Given the description of an element on the screen output the (x, y) to click on. 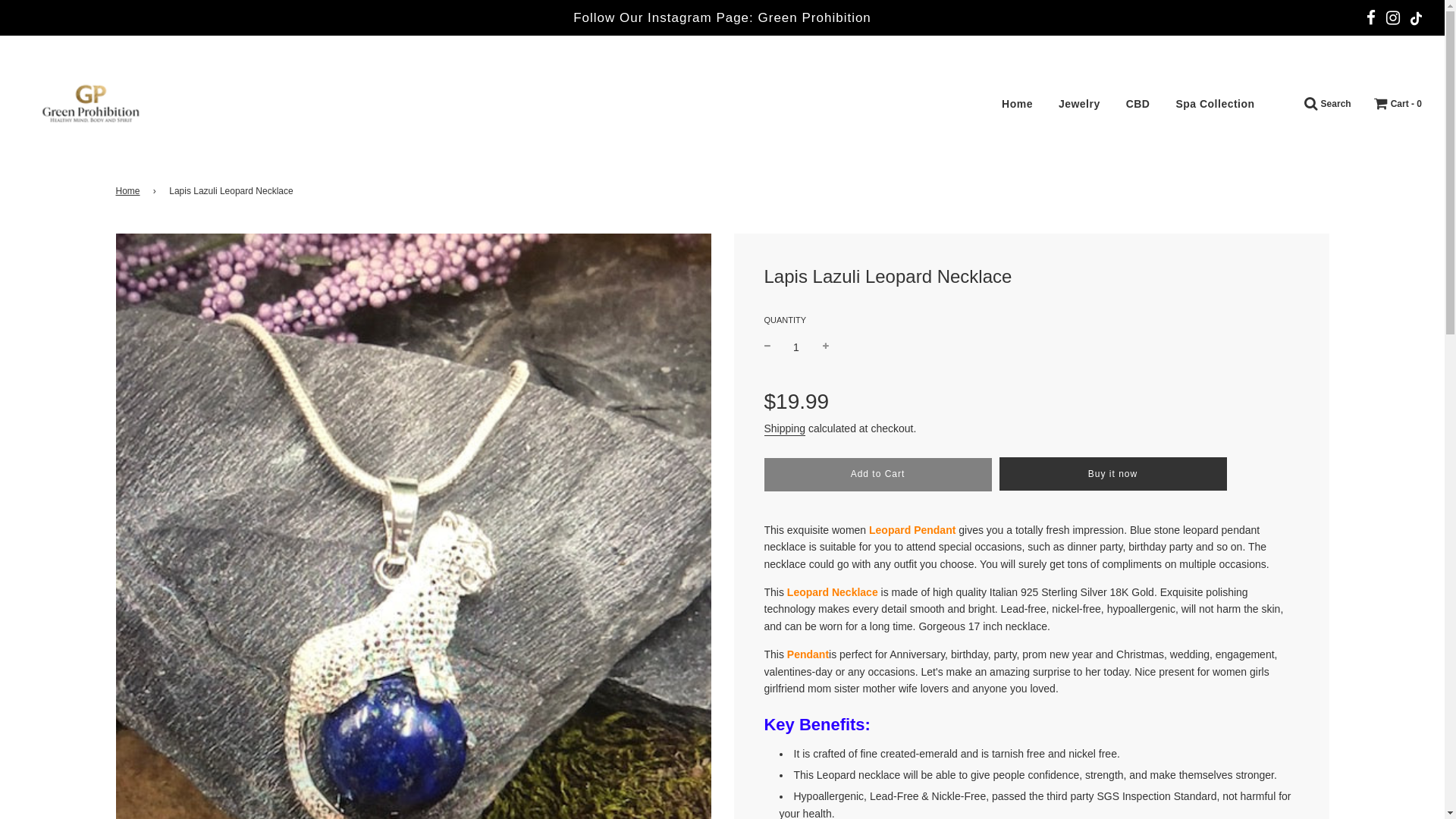
1 (796, 346)
Home (1016, 103)
Cart - 0 (1398, 104)
Search (1327, 104)
Back to the frontpage (129, 191)
Buy it now (1112, 473)
Shipping (785, 427)
Home (129, 191)
Spa Collection (1214, 103)
Jewelry (1079, 103)
CBD (1138, 103)
